Given the description of an element on the screen output the (x, y) to click on. 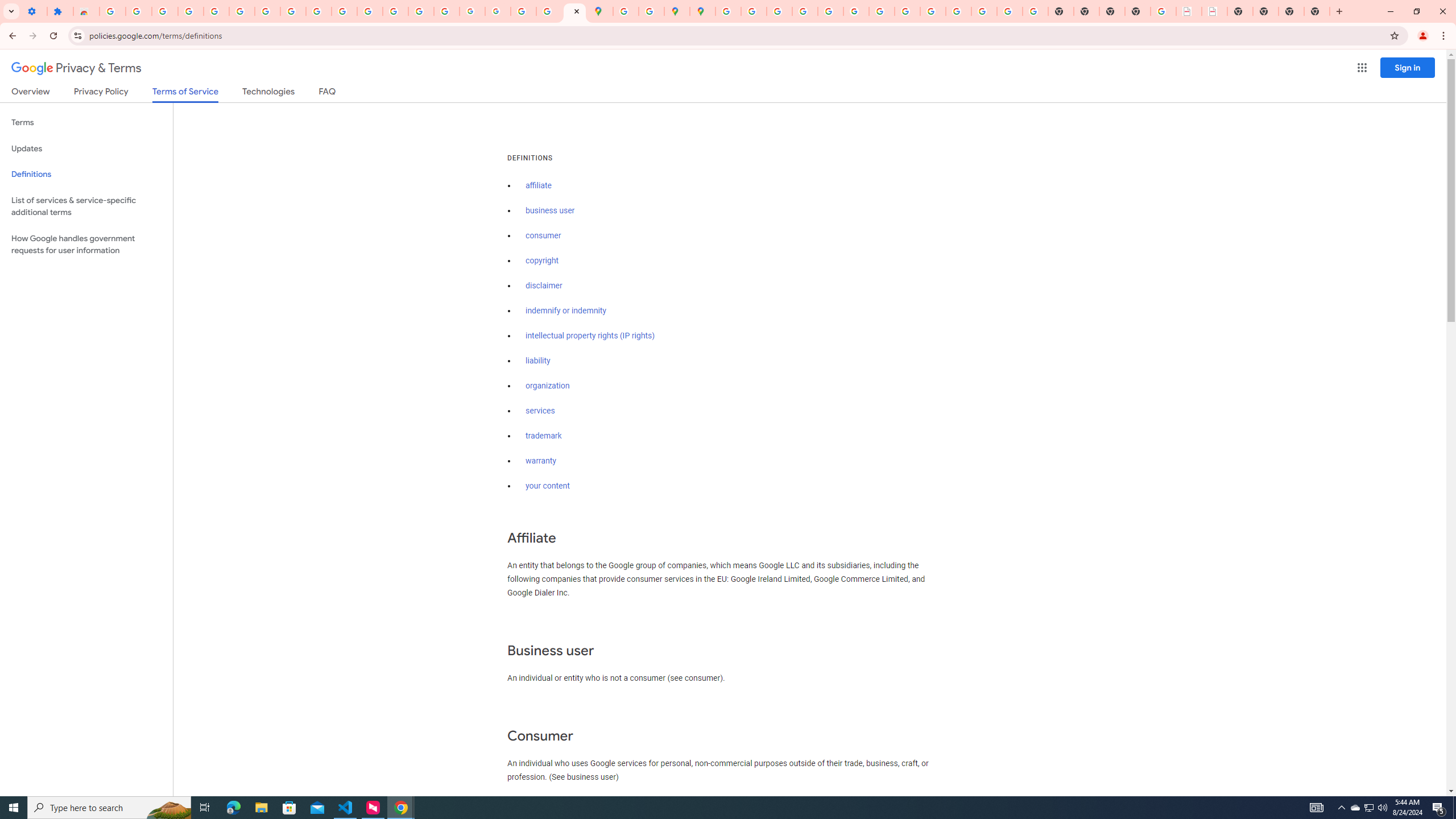
liability (537, 361)
disclaimer (543, 285)
Google Account (293, 11)
indemnify or indemnity (565, 311)
Settings - On startup (34, 11)
https://scholar.google.com/ (369, 11)
affiliate (538, 185)
